Given the description of an element on the screen output the (x, y) to click on. 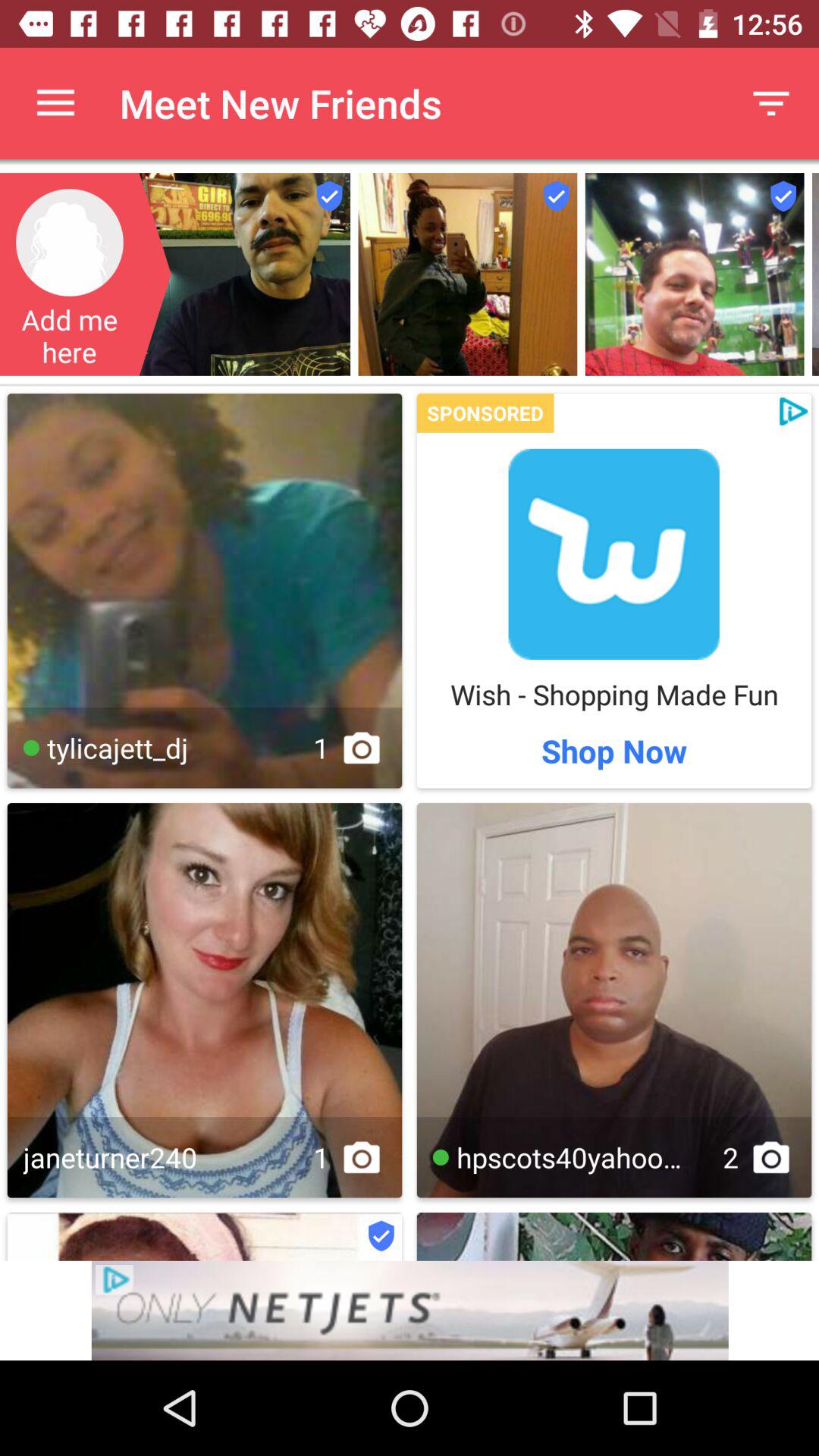
advertisement (409, 1310)
